Given the description of an element on the screen output the (x, y) to click on. 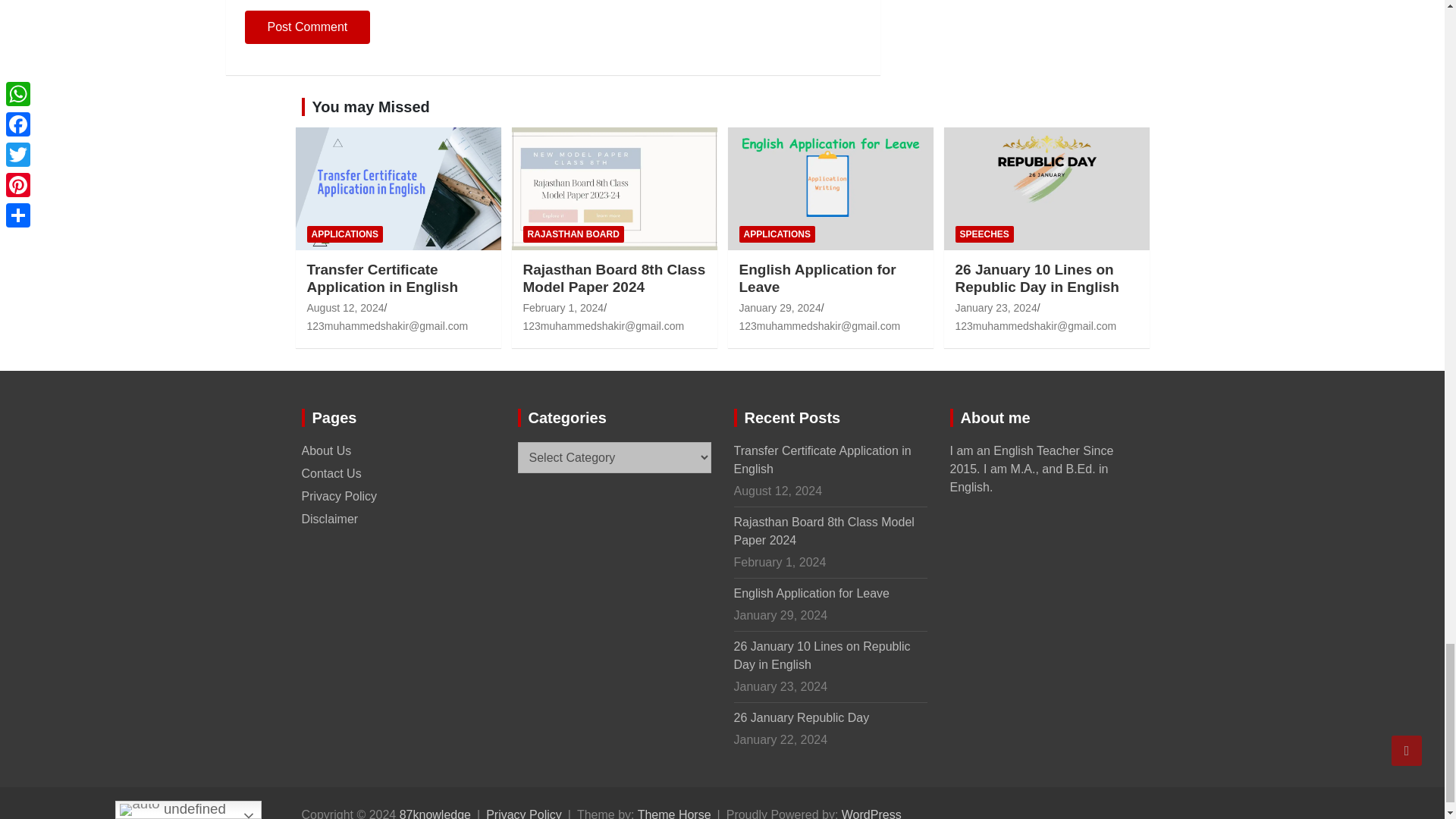
Post Comment (306, 27)
26 January 10 Lines on Republic Day in English (995, 307)
Rajasthan Board 8th Class Model Paper 2024 (563, 307)
English Application for Leave (779, 307)
Transfer Certificate Application in English (344, 307)
